Given the description of an element on the screen output the (x, y) to click on. 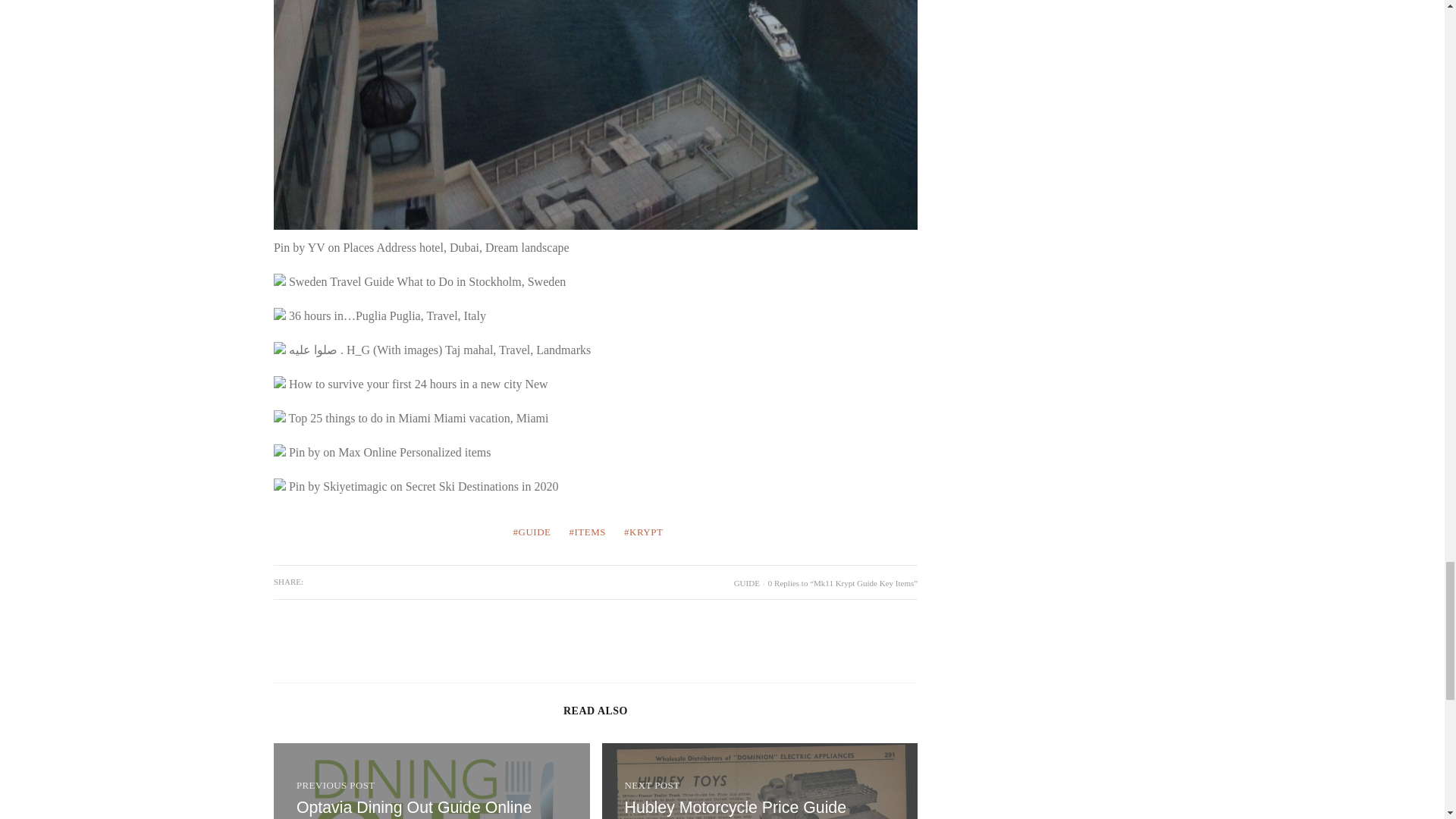
Mk11 Krypt Guide Key Items (735, 807)
Hubley Motorcycle Price Guide (735, 807)
View all posts under this category. (746, 583)
Mk11 Krypt Guide Key Items (414, 807)
Mk11 Krypt Guide Key Items (760, 780)
Optavia Dining Out Guide Online (431, 780)
Hubley Motorcycle Price Guide (760, 780)
Optavia Dining Out Guide Online (414, 807)
GUIDE (746, 583)
Mk11 Krypt Guide Key Items (431, 780)
